Given the description of an element on the screen output the (x, y) to click on. 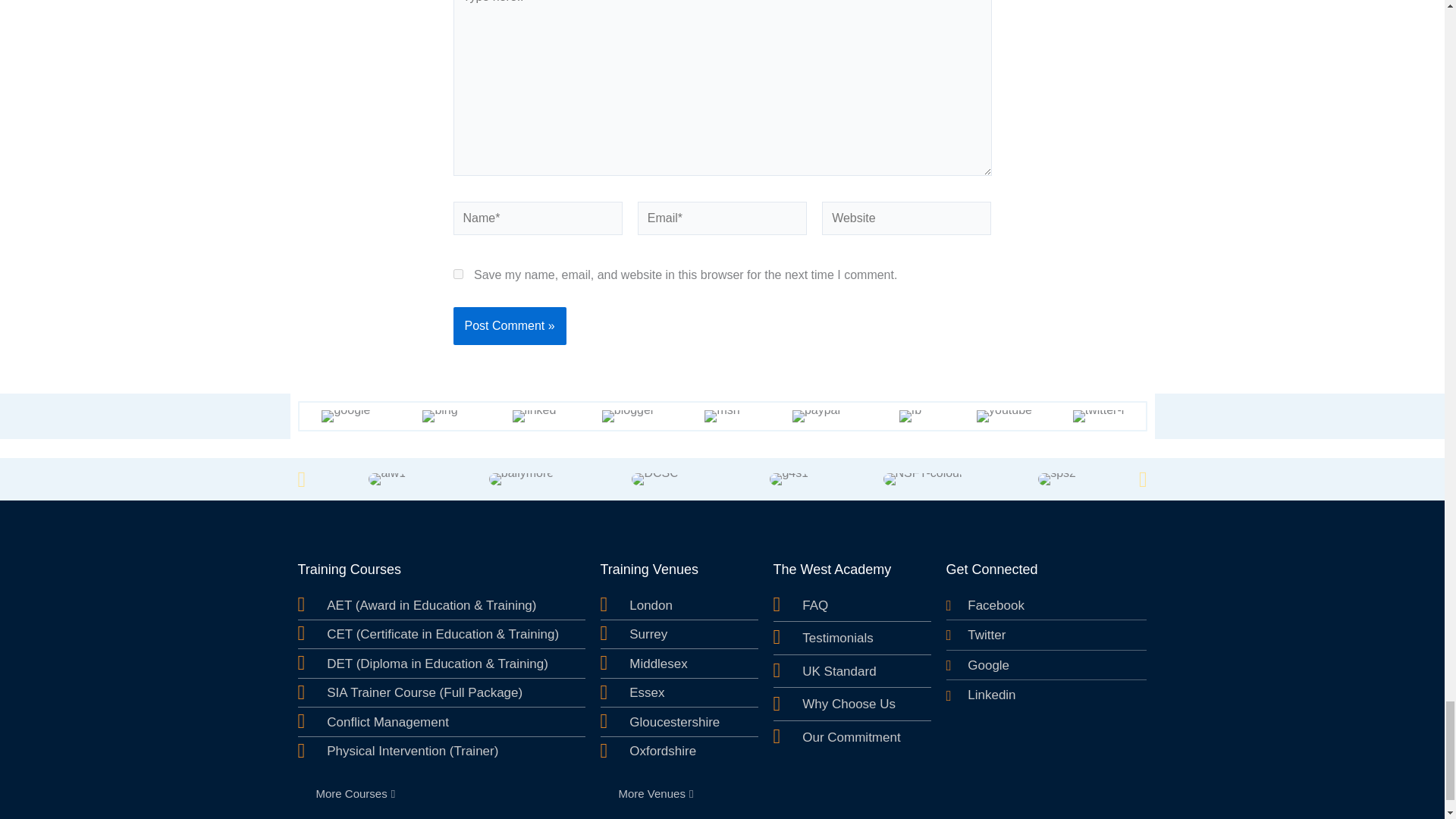
yes (457, 274)
